Given the description of an element on the screen output the (x, y) to click on. 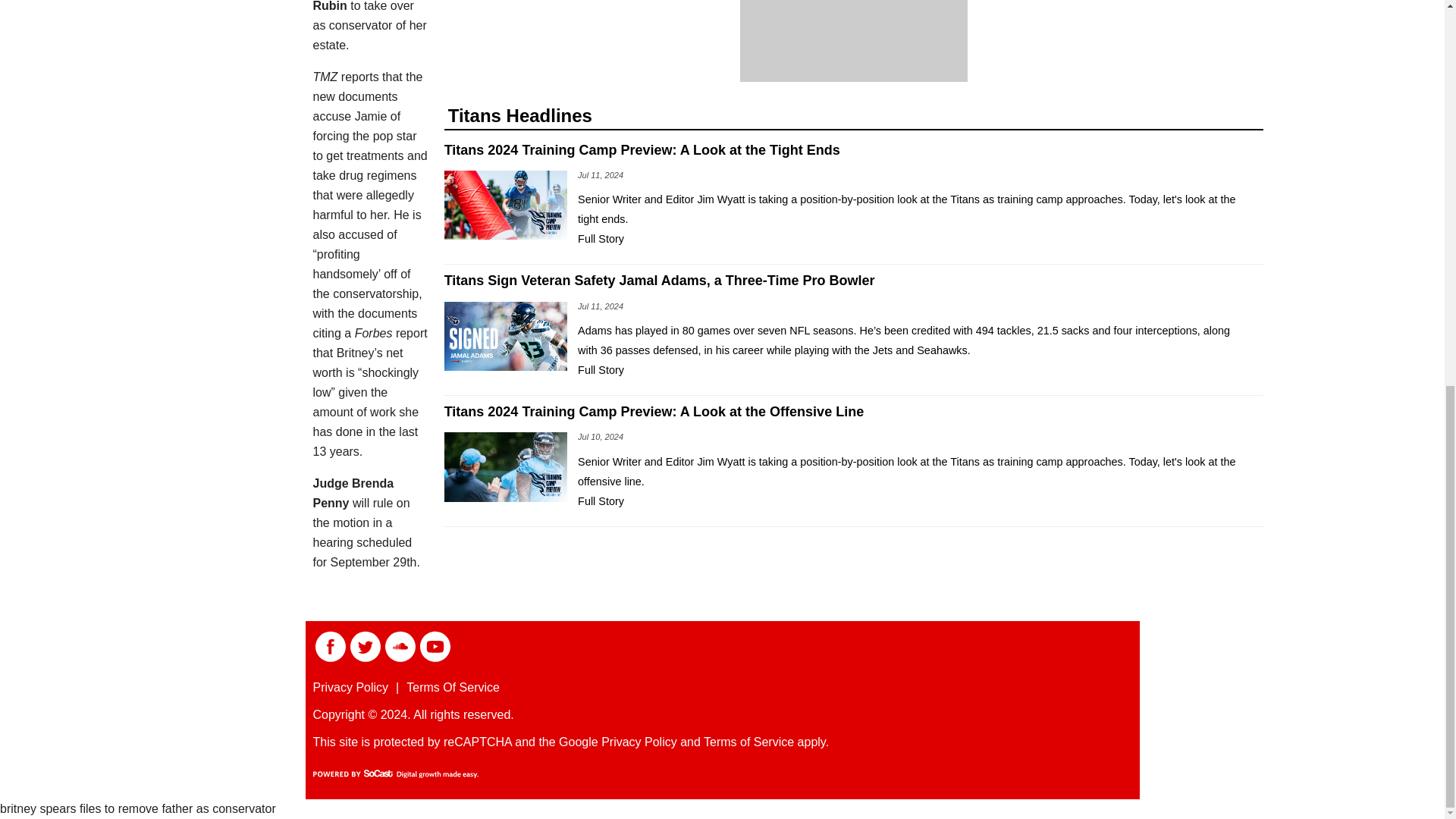
Powered By SoCast (395, 773)
